Given the description of an element on the screen output the (x, y) to click on. 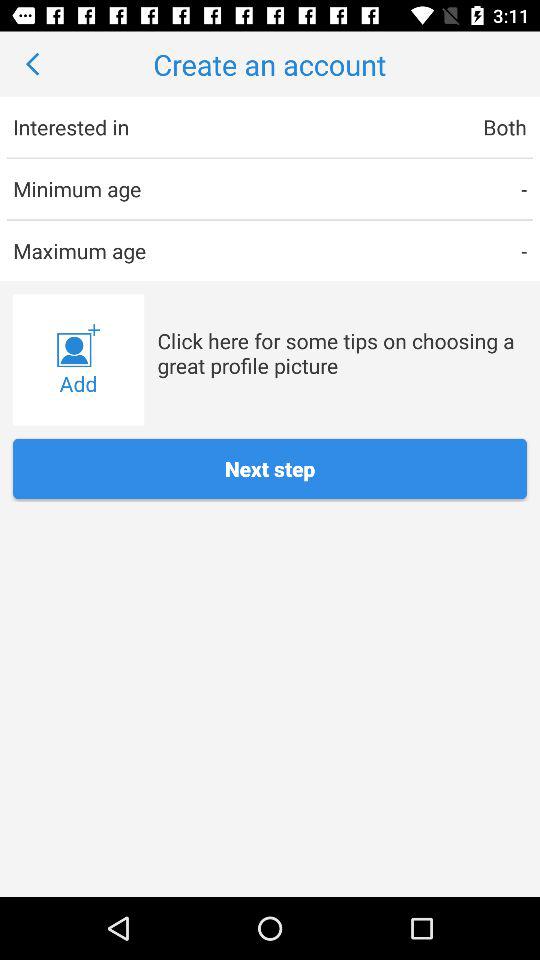
select icon to the left of click here for item (78, 359)
